Given the description of an element on the screen output the (x, y) to click on. 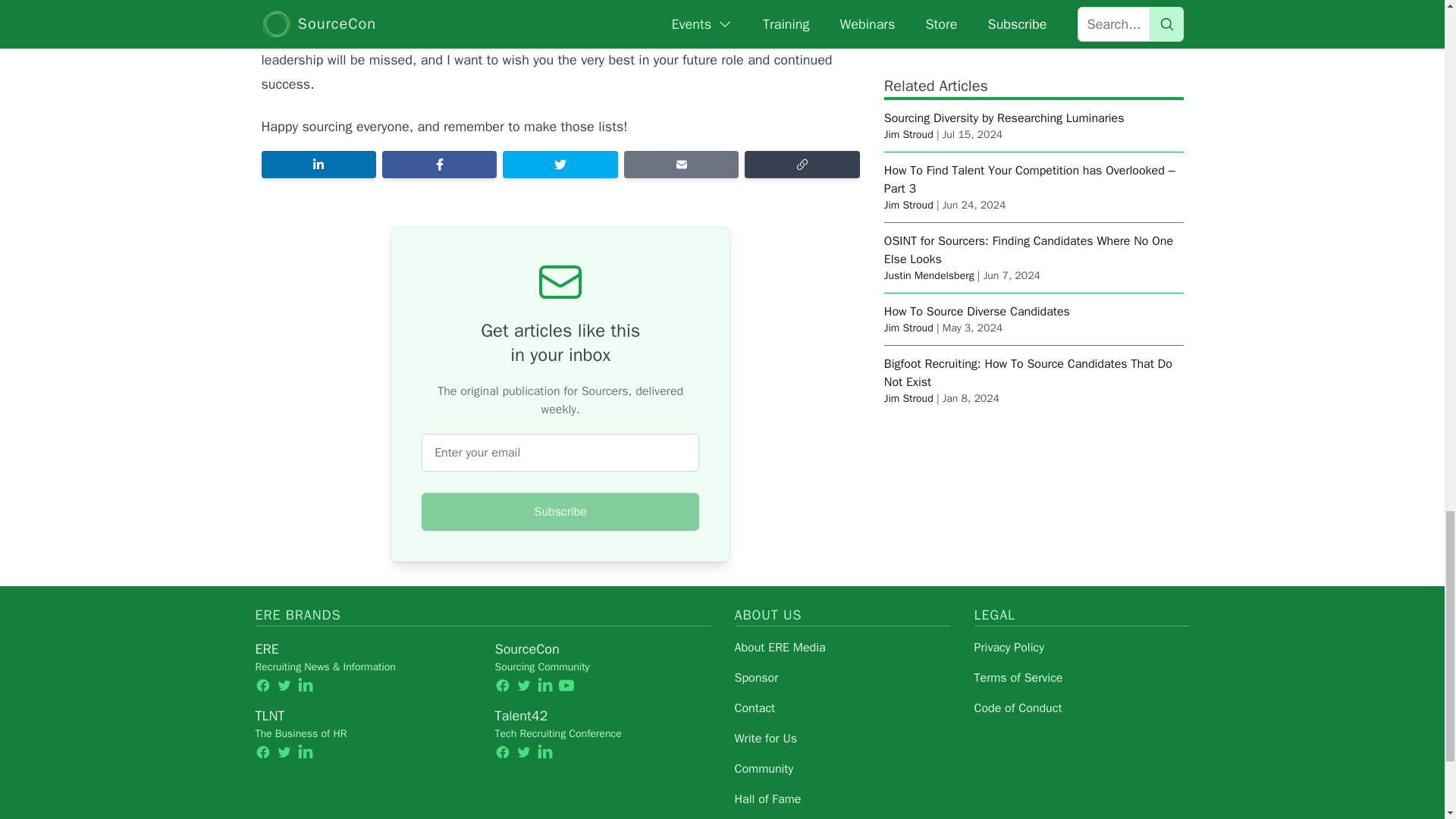
Jim Stroud (908, 332)
Jim Stroud (908, 68)
Subscribe (560, 511)
Jim Stroud (908, 138)
ERE (266, 648)
Sourcing Diversity by Researching Luminaries (1003, 52)
Justin Mendelsberg (928, 209)
facebook (261, 685)
How To Source Diverse Candidates (976, 245)
Jim Stroud (908, 261)
